Given the description of an element on the screen output the (x, y) to click on. 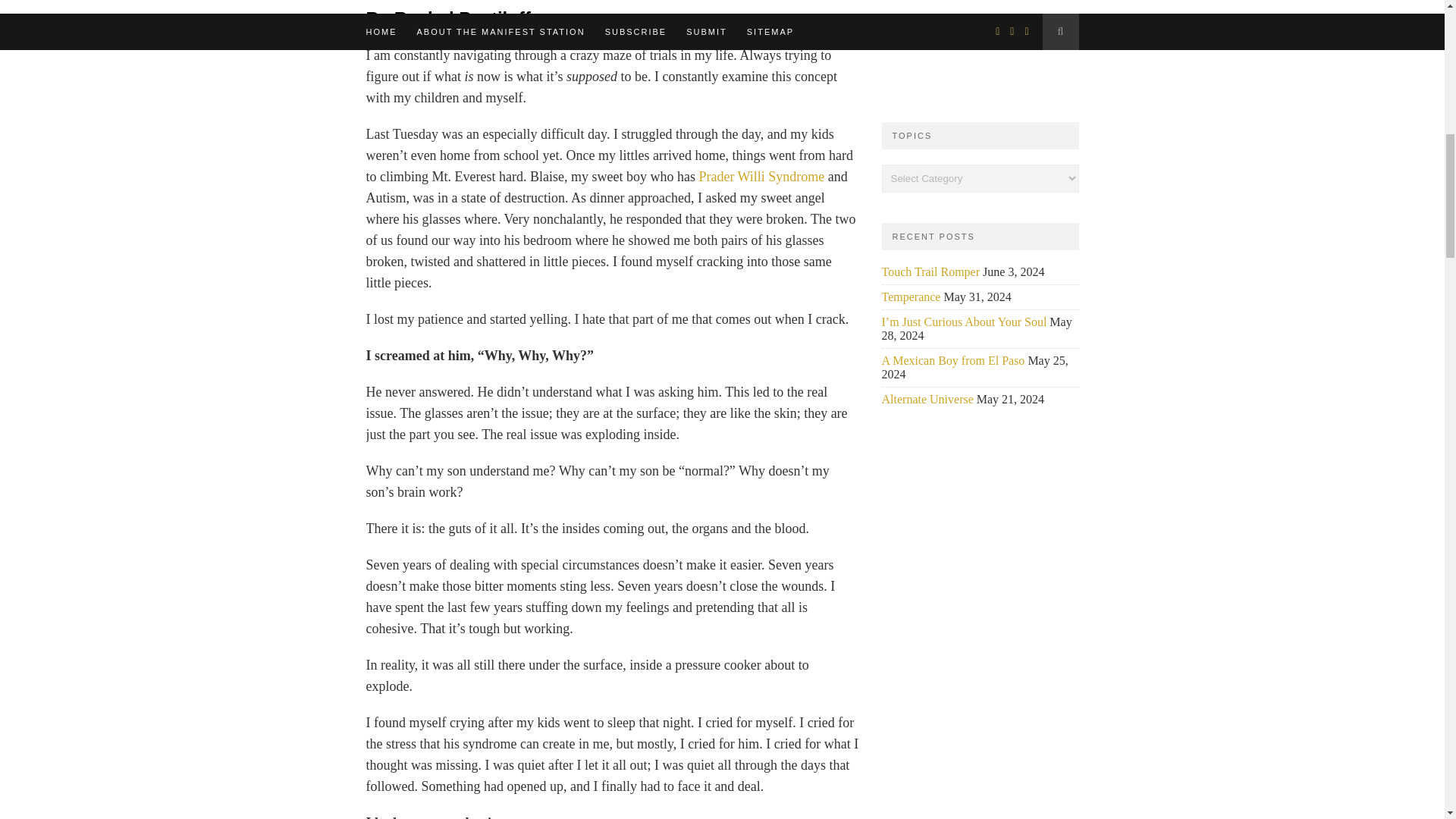
Prader Willi Syndrome  (762, 176)
